Given the description of an element on the screen output the (x, y) to click on. 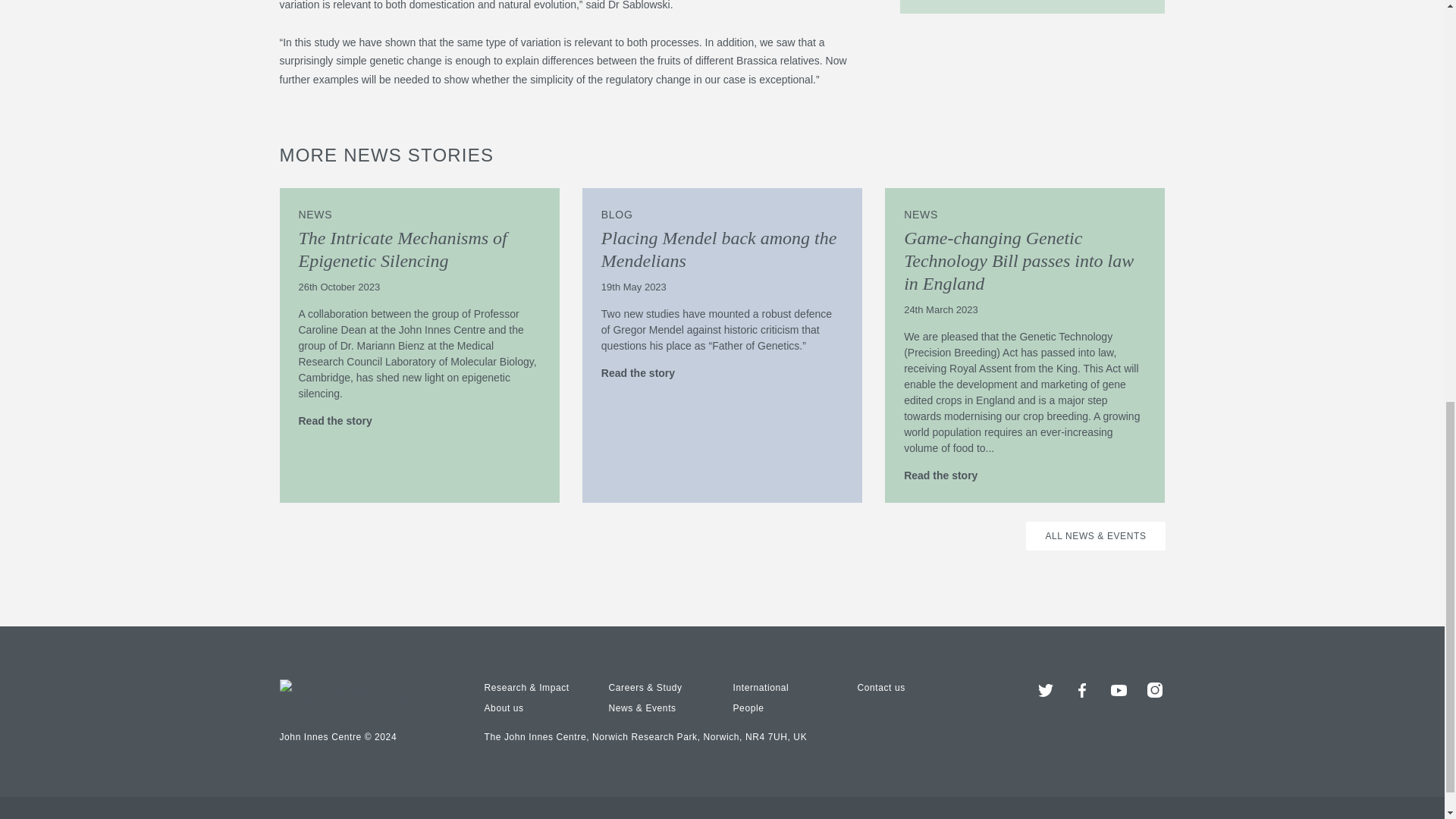
People (747, 707)
International (760, 687)
Read the story (342, 420)
About us (502, 707)
The Intricate Mechanisms of Epigenetic Silencing (402, 249)
Read the story (645, 373)
Placing Mendel back among the Mendelians (719, 249)
Contact us (880, 687)
Read the story (948, 474)
